Given the description of an element on the screen output the (x, y) to click on. 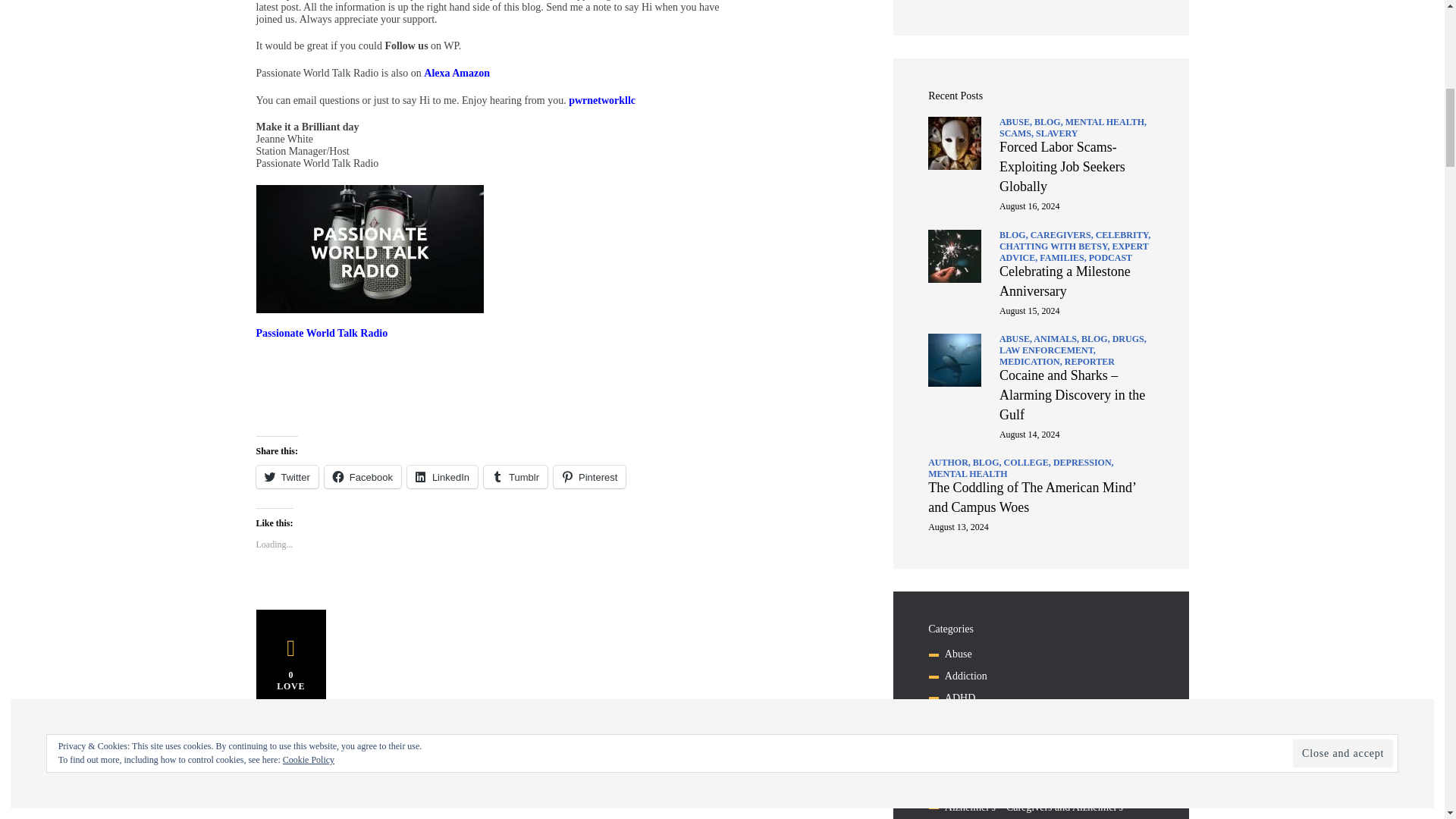
View all posts in Celebrity (1123, 235)
Click to share on Pinterest (589, 477)
View all posts in Caregivers (1063, 235)
View all posts in Scams (1016, 132)
View all posts in Abuse (1015, 122)
Click to share on Facebook (362, 477)
Click to share on LinkedIn (442, 477)
View all posts in Mental Health (1106, 122)
View all posts in BLOG (1014, 235)
View all posts in Slavery (1056, 132)
